Given the description of an element on the screen output the (x, y) to click on. 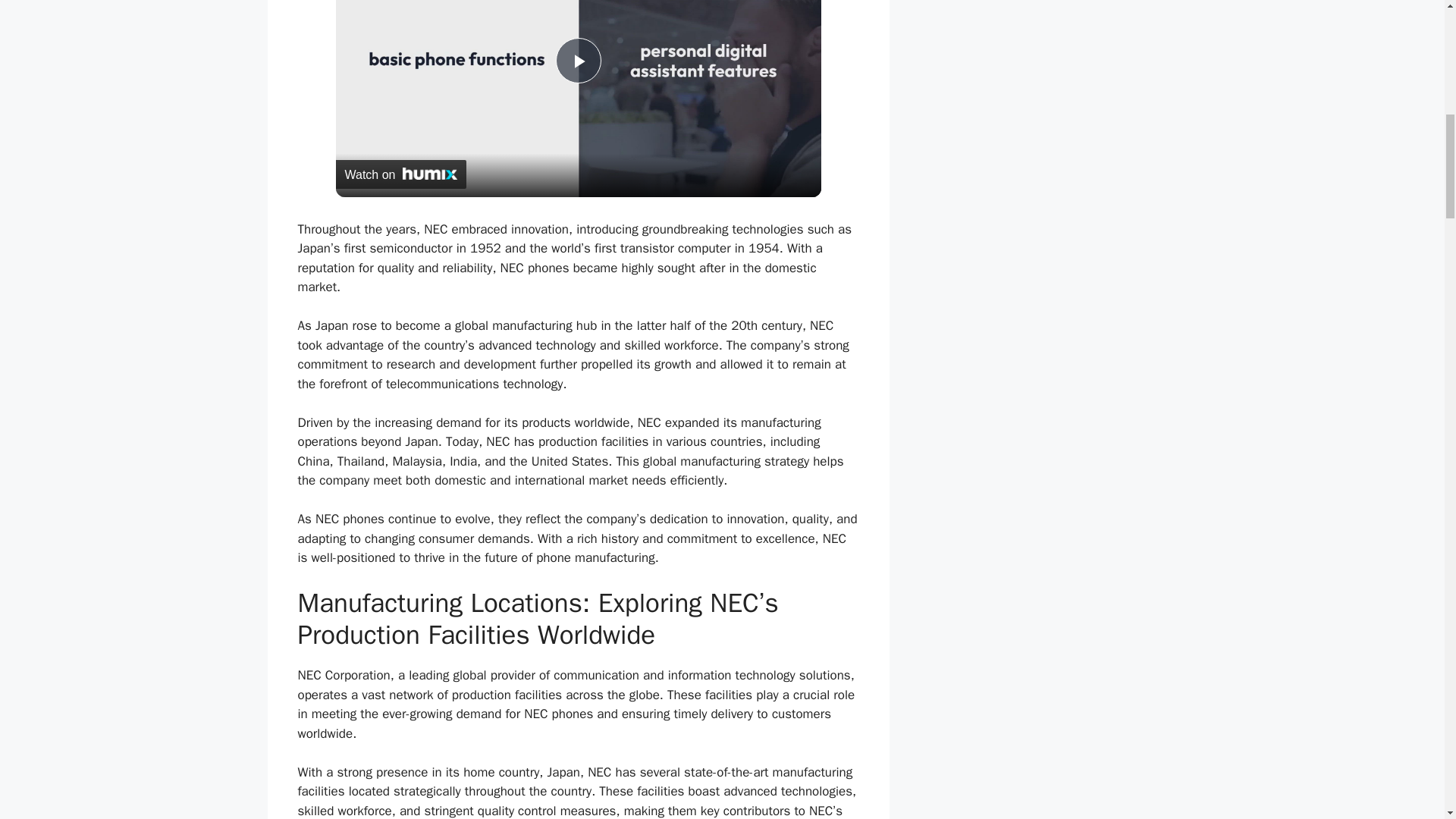
Play Video (576, 60)
Watch on (399, 174)
